Given the description of an element on the screen output the (x, y) to click on. 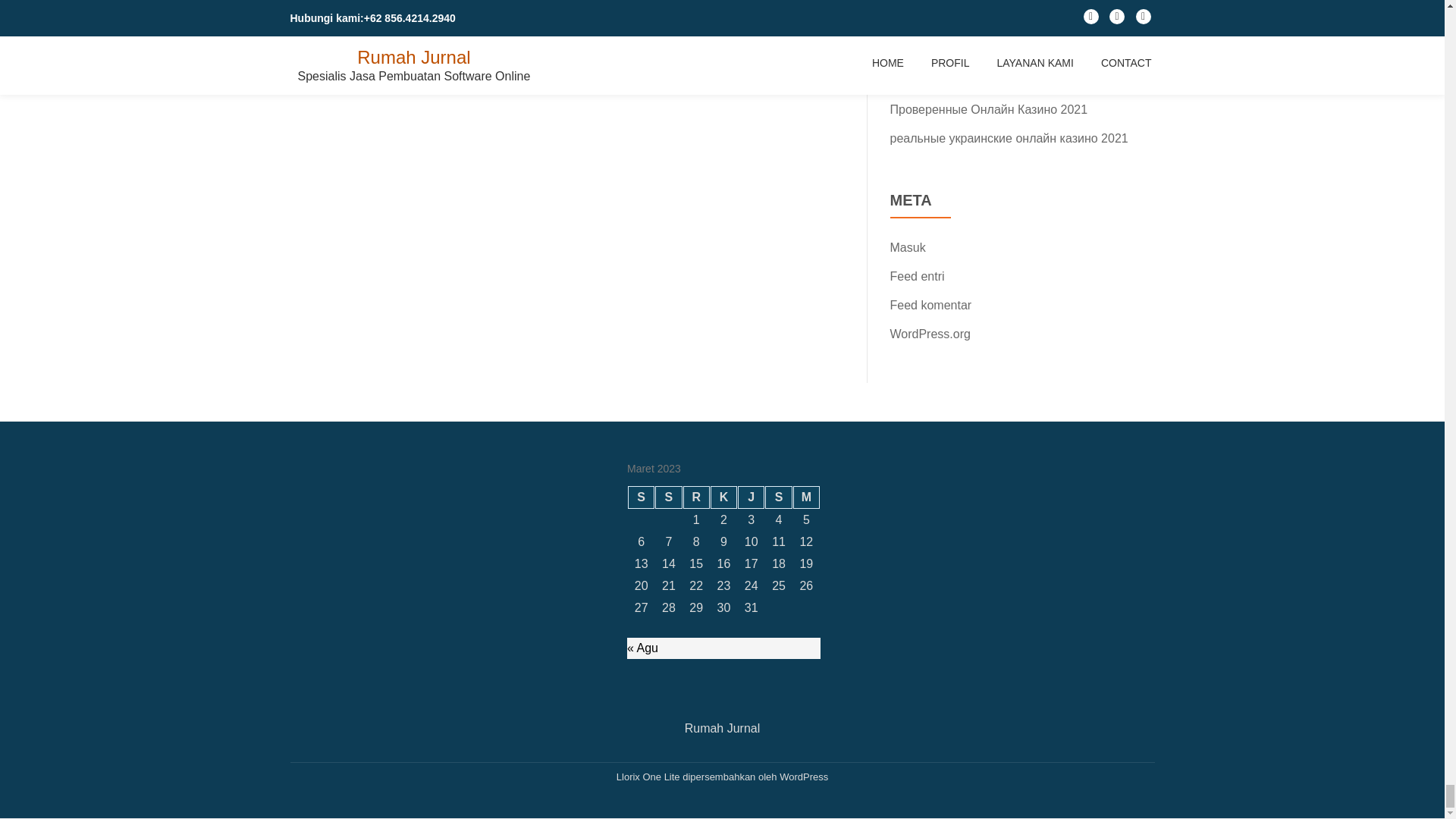
Kamis (723, 497)
Jumat (751, 497)
Rabu (696, 497)
Sabtu (778, 497)
Minggu (806, 497)
Selasa (668, 497)
Senin (640, 497)
